Given the description of an element on the screen output the (x, y) to click on. 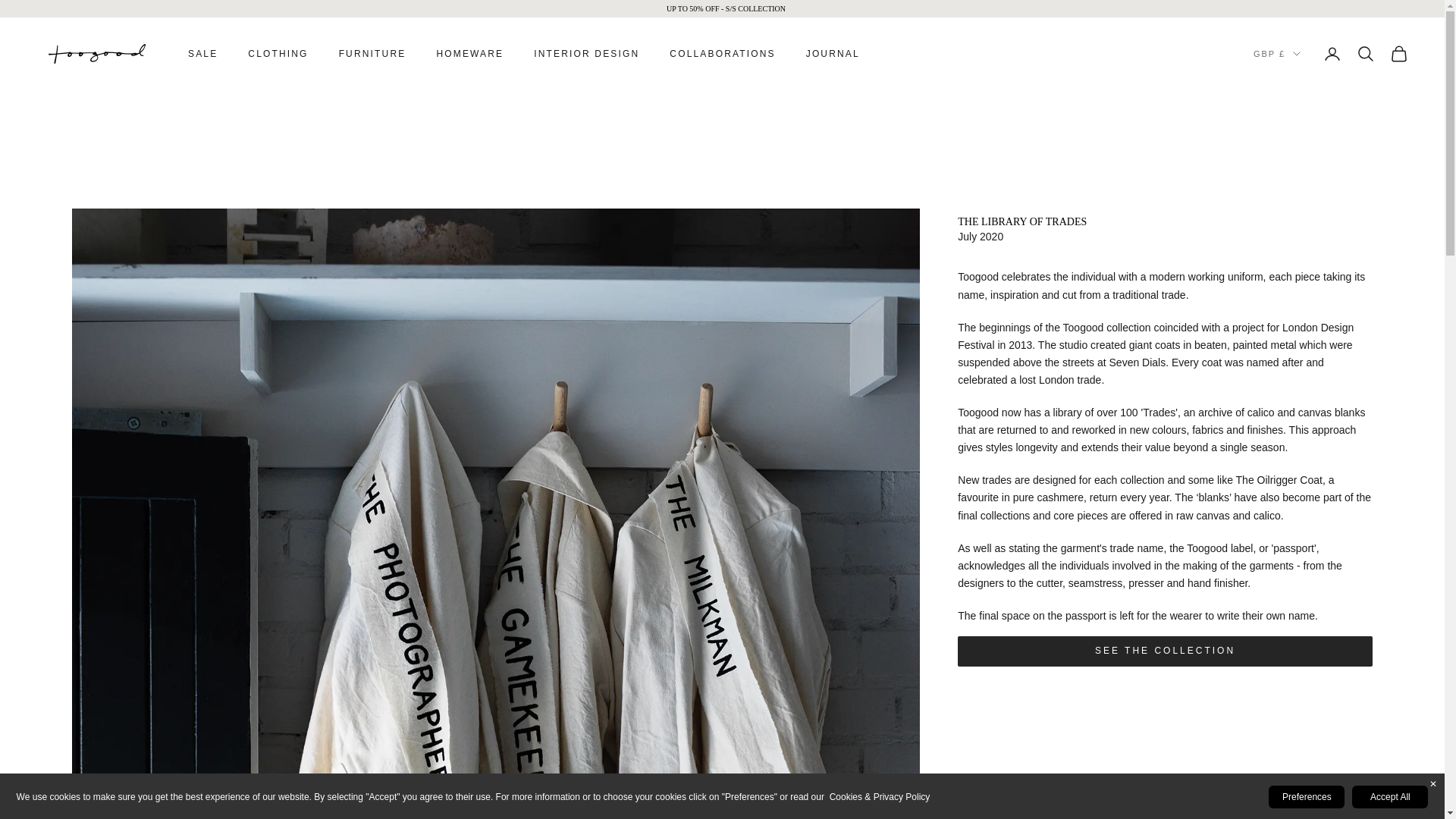
SALE (201, 53)
Toogood (96, 53)
